Given the description of an element on the screen output the (x, y) to click on. 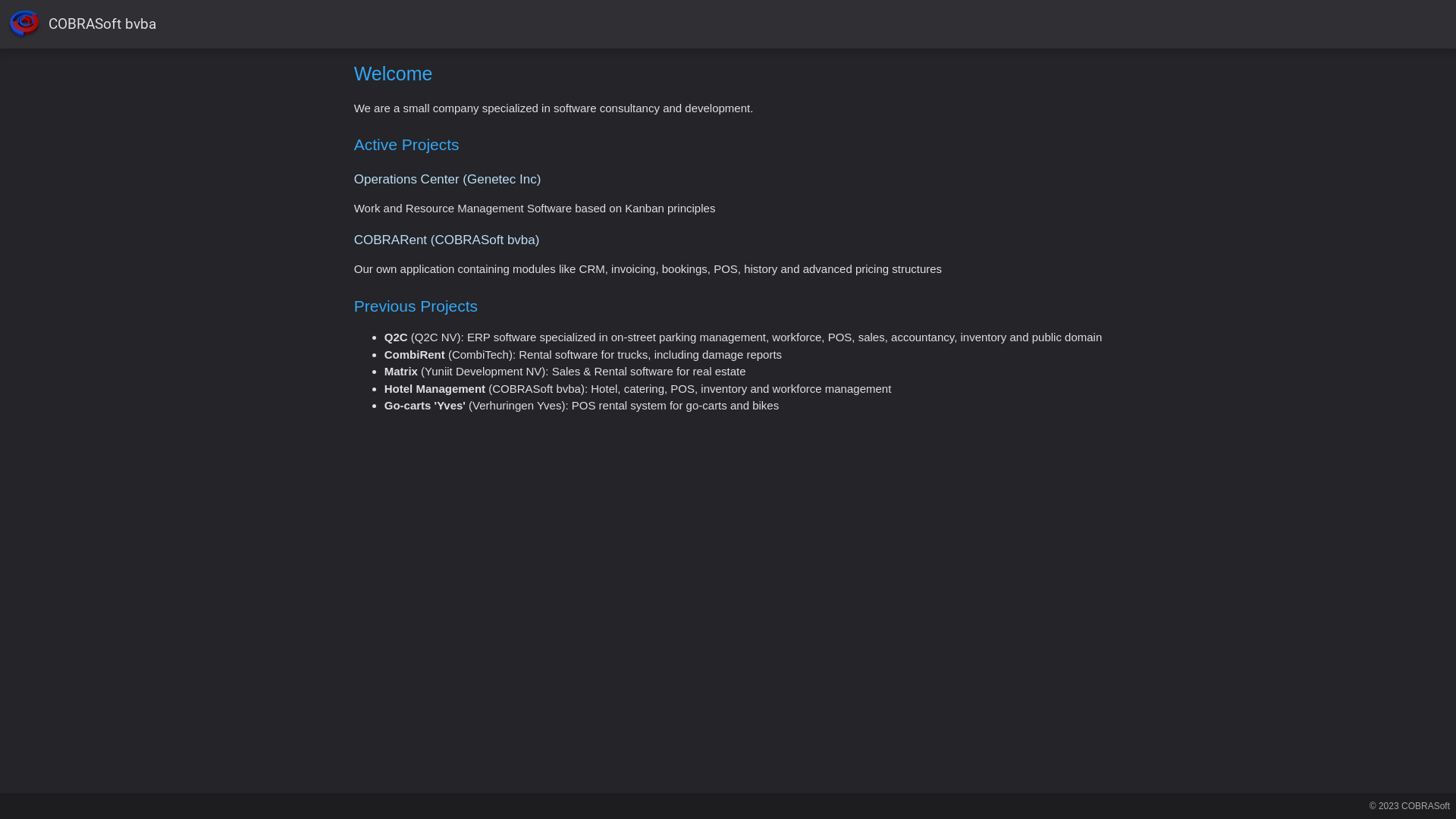
COBRASoft bvba Element type: text (81, 24)
